Given the description of an element on the screen output the (x, y) to click on. 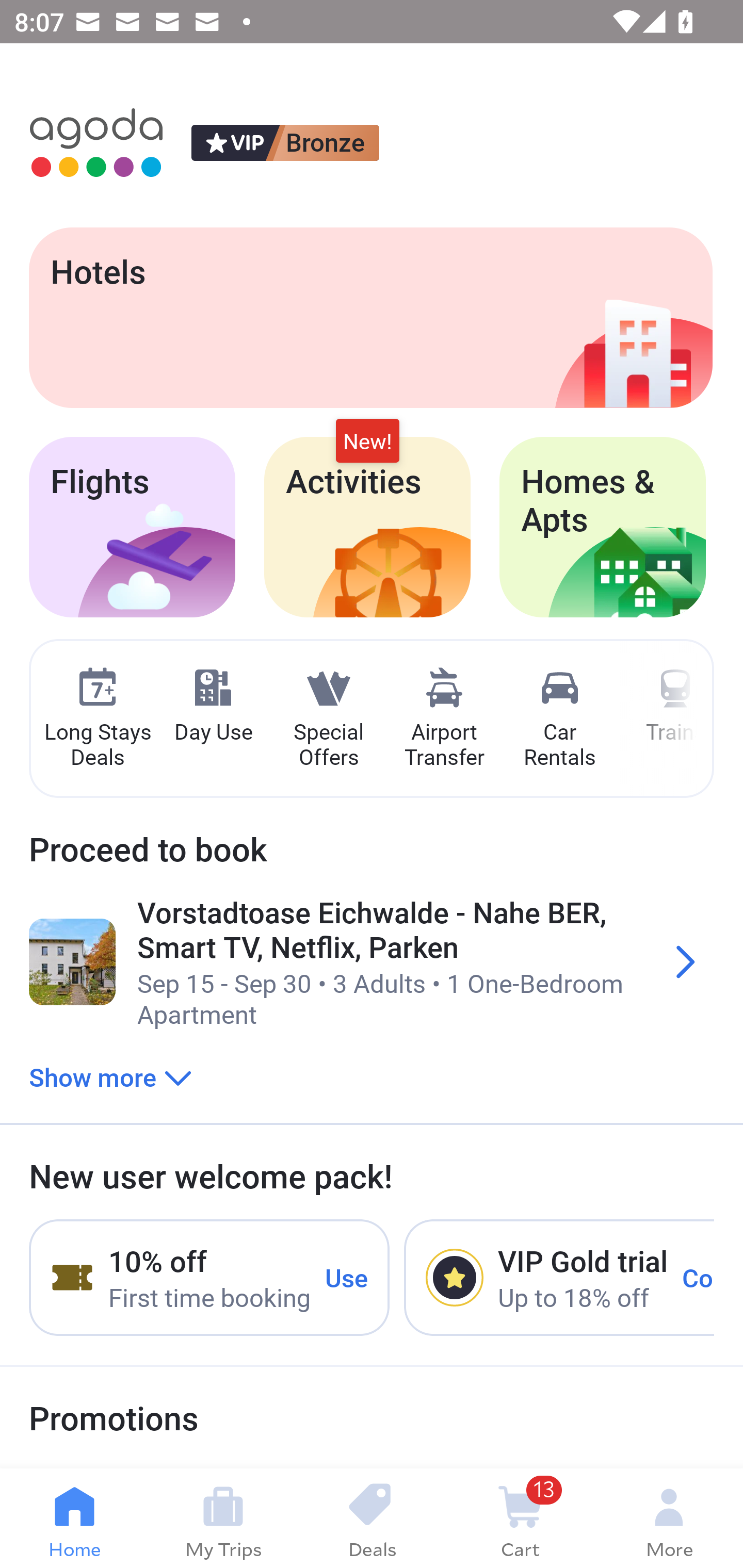
Hotels (370, 317)
New! (367, 441)
Flights (131, 527)
Activities (367, 527)
Homes & Apts (602, 527)
Day Use (213, 706)
Long Stays Deals (97, 718)
Special Offers (328, 718)
Airport Transfer (444, 718)
Car Rentals (559, 718)
Show more (110, 1076)
Use (346, 1277)
Home (74, 1518)
My Trips (222, 1518)
Deals (371, 1518)
13 Cart (519, 1518)
More (668, 1518)
